Given the description of an element on the screen output the (x, y) to click on. 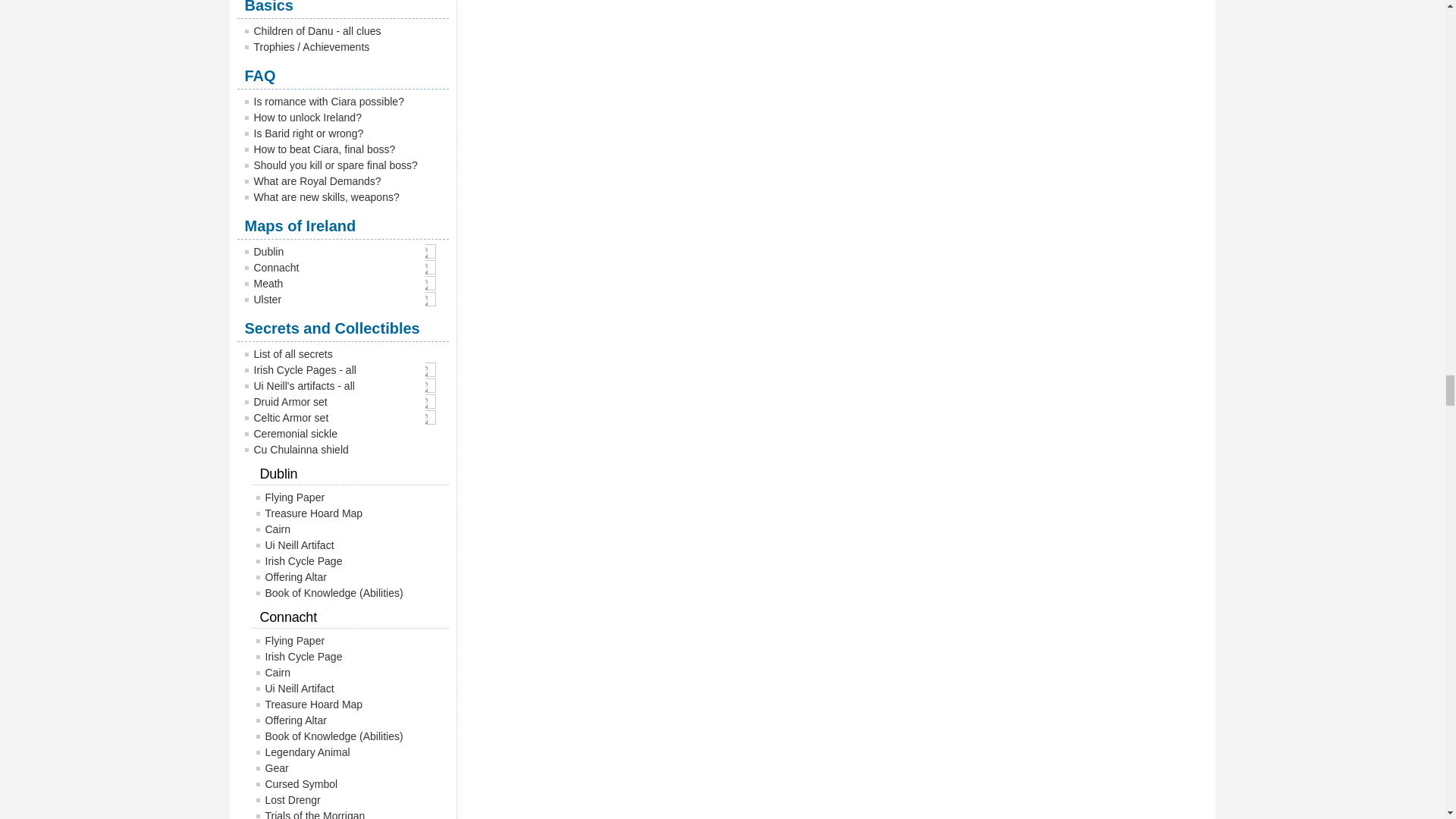
Map (434, 298)
Map (434, 251)
Map (434, 385)
Map (434, 267)
Map (434, 369)
Map (434, 283)
